Given the description of an element on the screen output the (x, y) to click on. 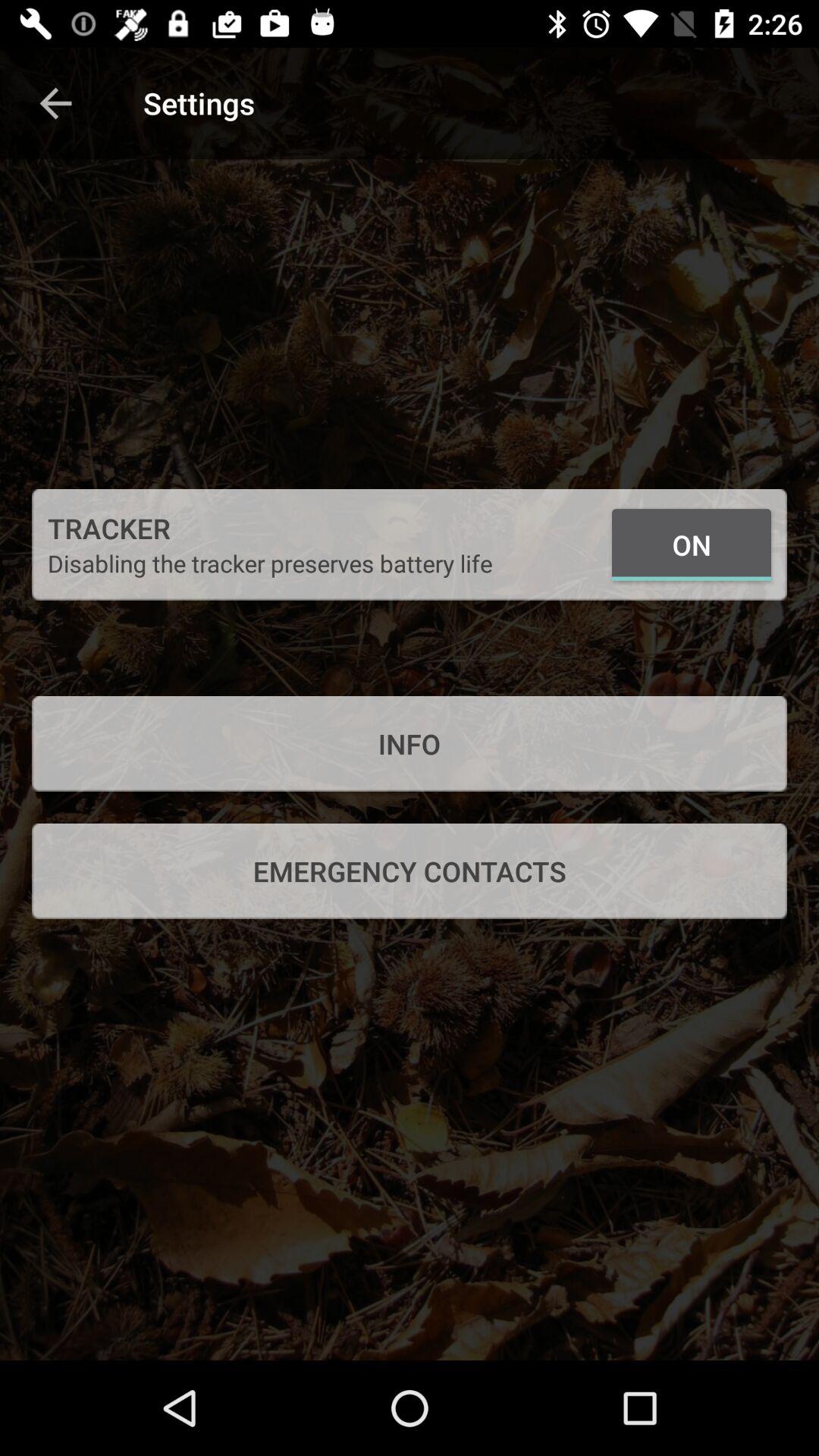
choose the icon above tracker item (55, 103)
